Given the description of an element on the screen output the (x, y) to click on. 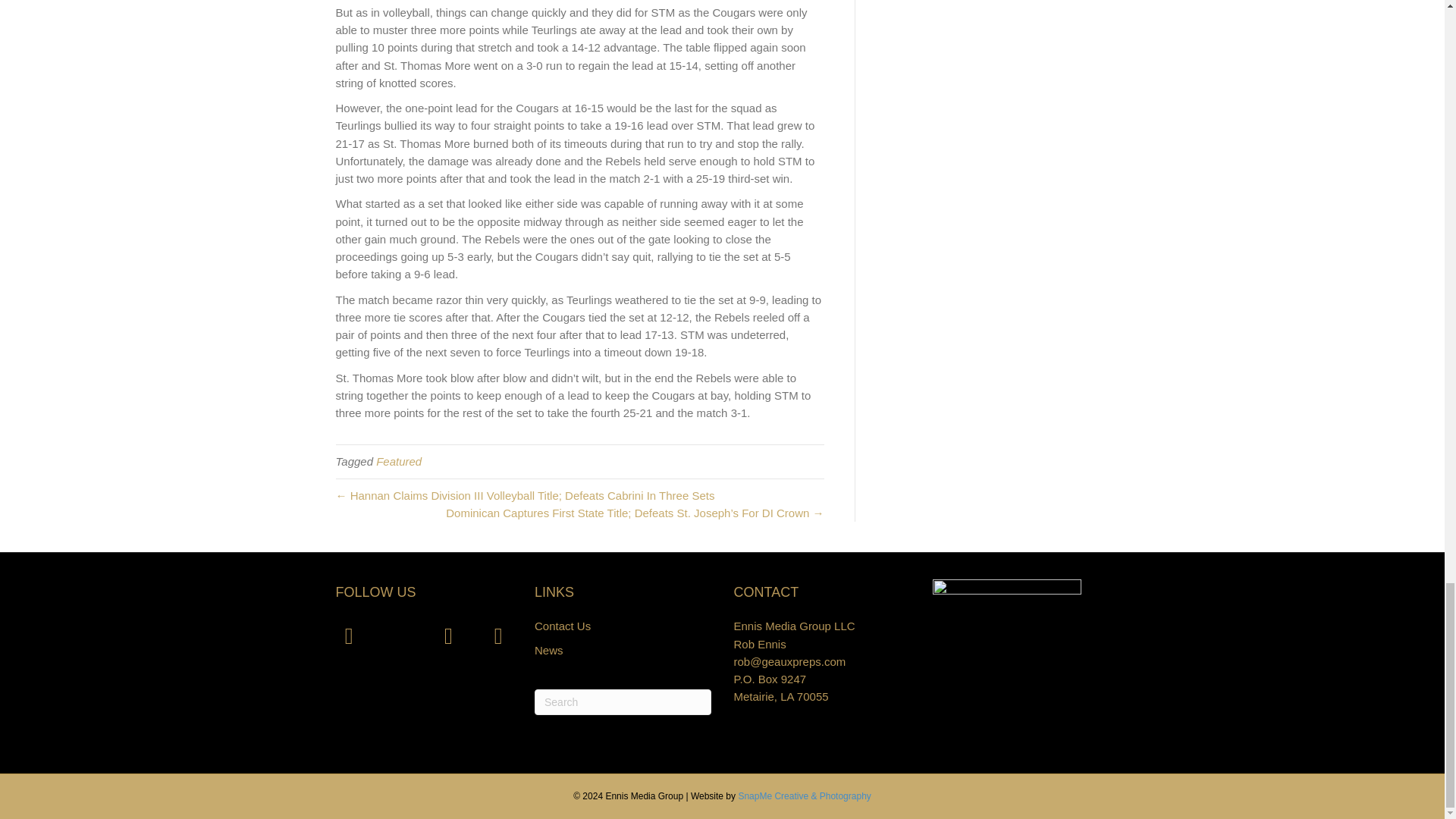
Type and press Enter to search. (622, 701)
News (548, 649)
Contact Us (562, 625)
Featured (398, 461)
